Given the description of an element on the screen output the (x, y) to click on. 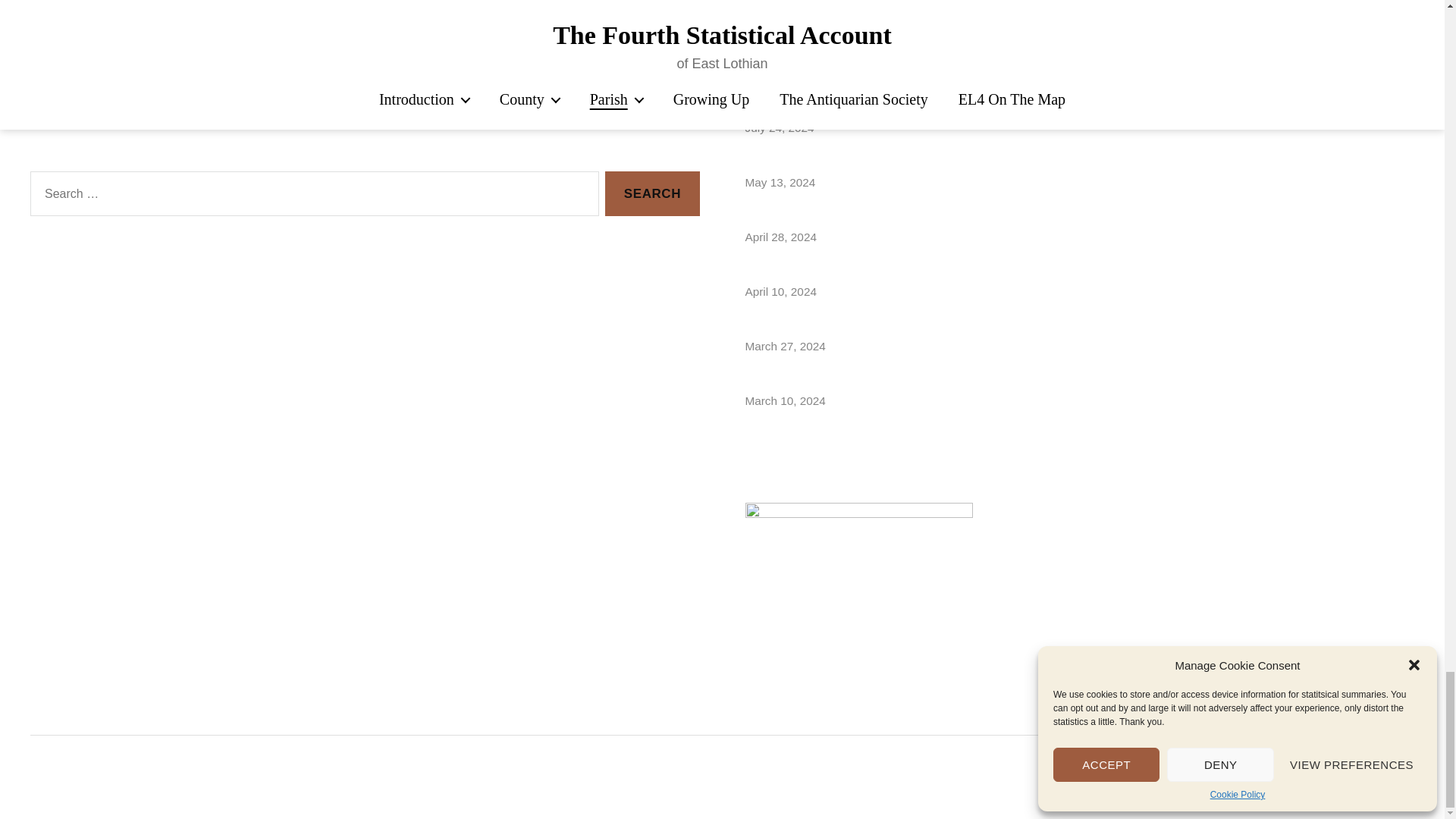
Search (651, 193)
Search (651, 193)
